Given the description of an element on the screen output the (x, y) to click on. 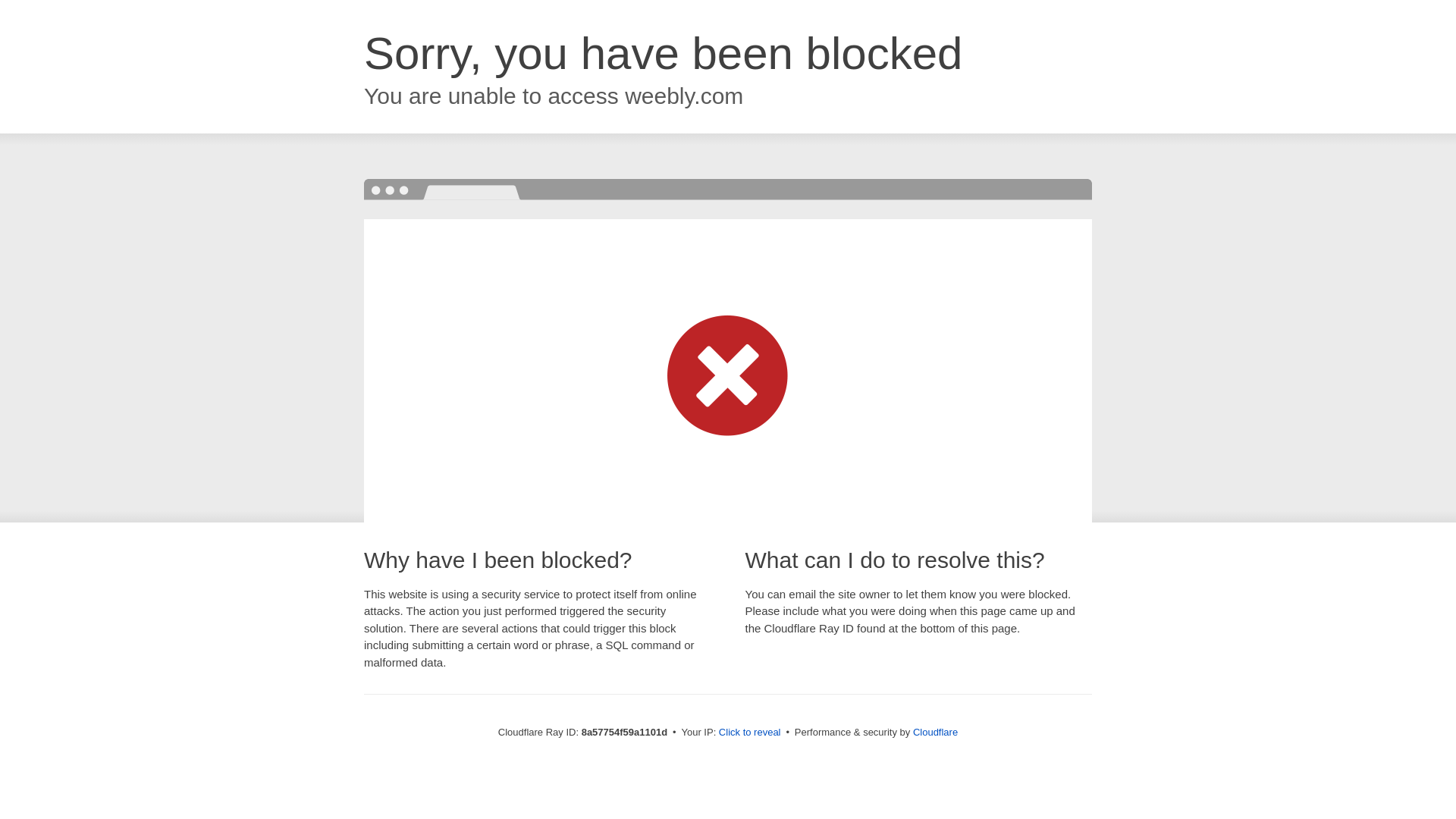
Cloudflare (935, 731)
Click to reveal (749, 732)
